Given the description of an element on the screen output the (x, y) to click on. 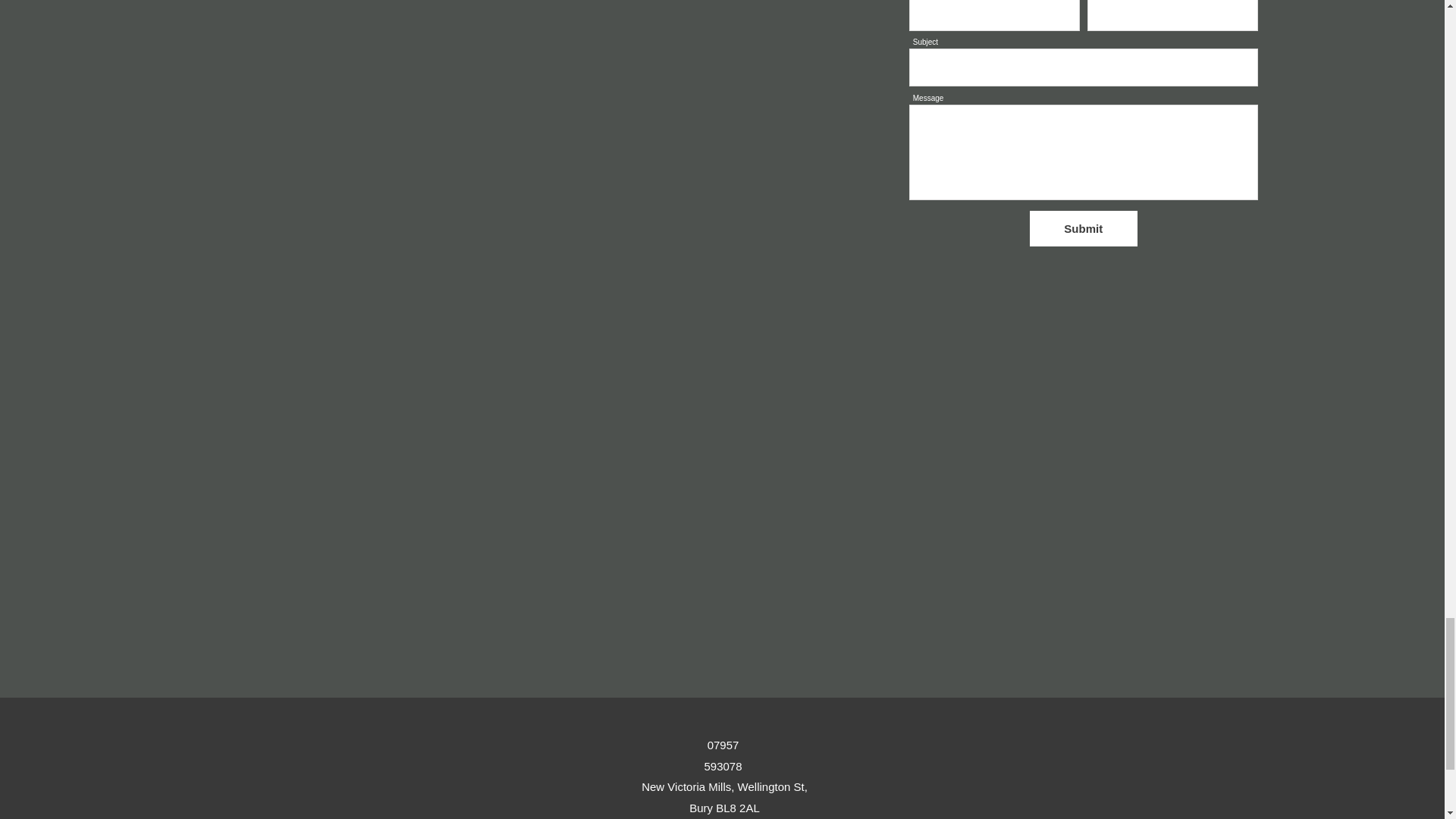
Submit (1083, 228)
